Given the description of an element on the screen output the (x, y) to click on. 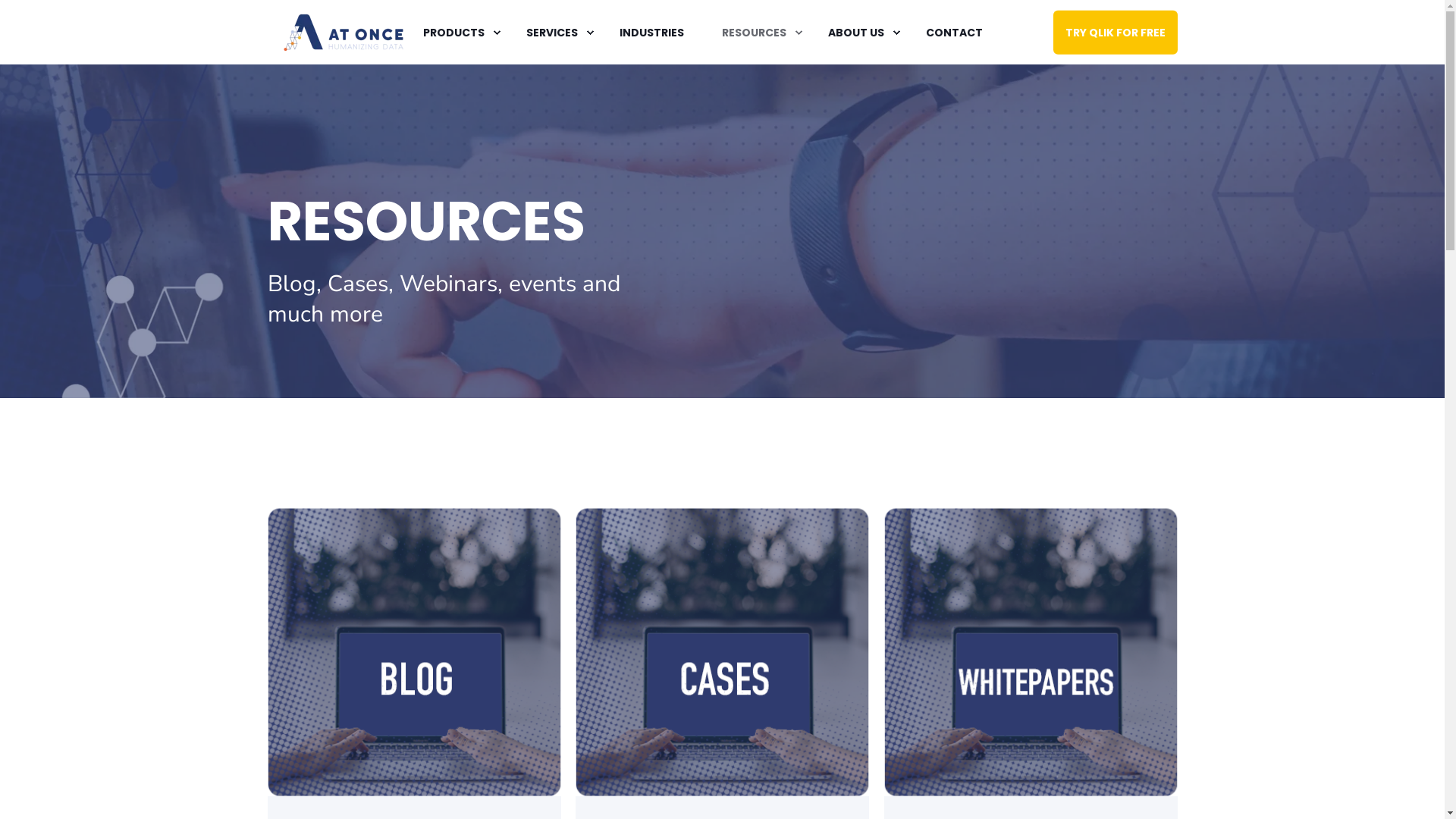
RESOURCES Element type: text (755, 32)
INDUSTRIES Element type: text (651, 32)
TRY QLIK FOR FREE Element type: text (1114, 31)
SERVICES Element type: text (552, 32)
ABOUT US Element type: text (857, 32)
CONTACT Element type: text (944, 32)
PRODUCTS Element type: text (454, 32)
